Given the description of an element on the screen output the (x, y) to click on. 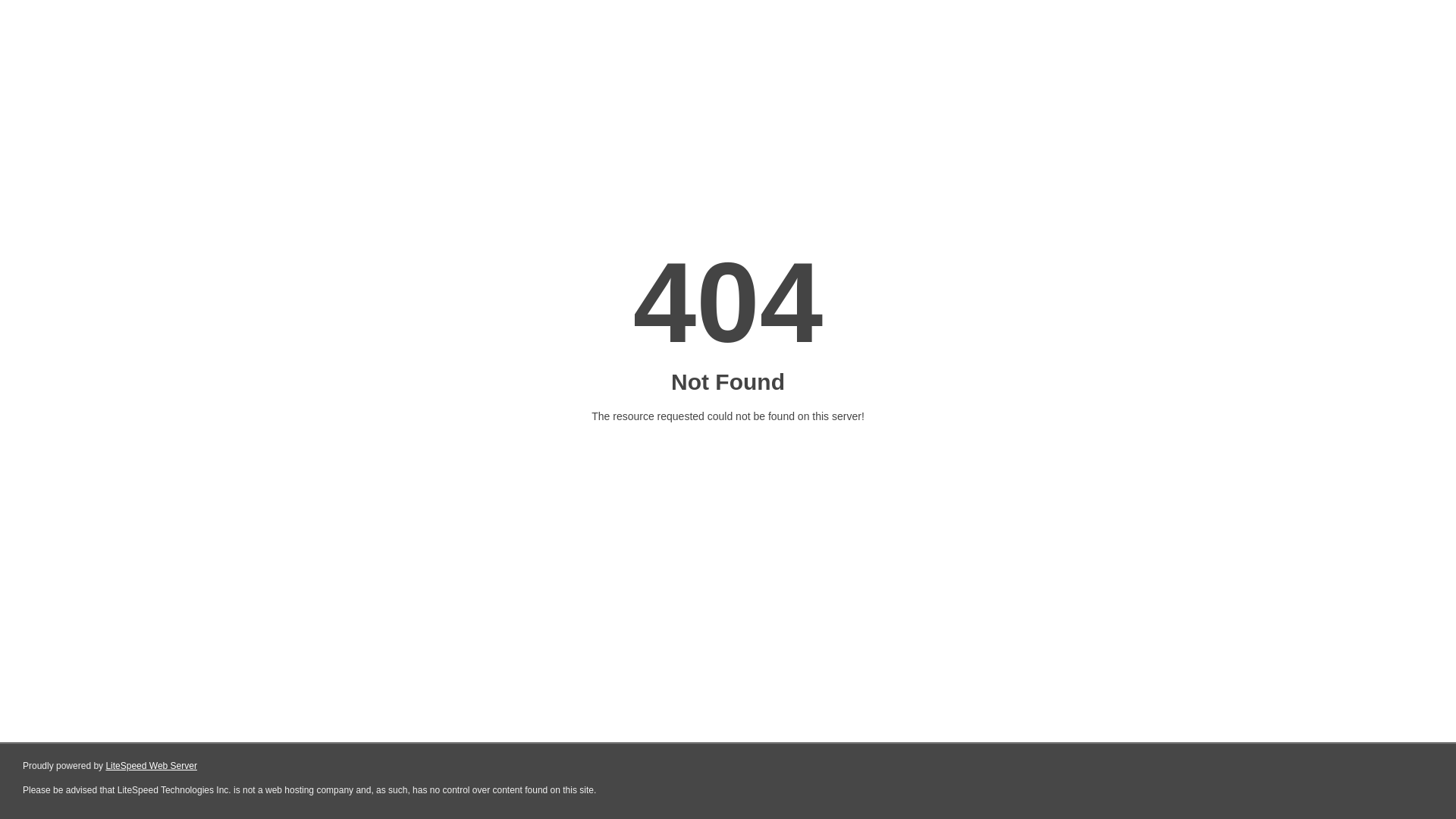
LiteSpeed Web Server Element type: text (151, 765)
